Given the description of an element on the screen output the (x, y) to click on. 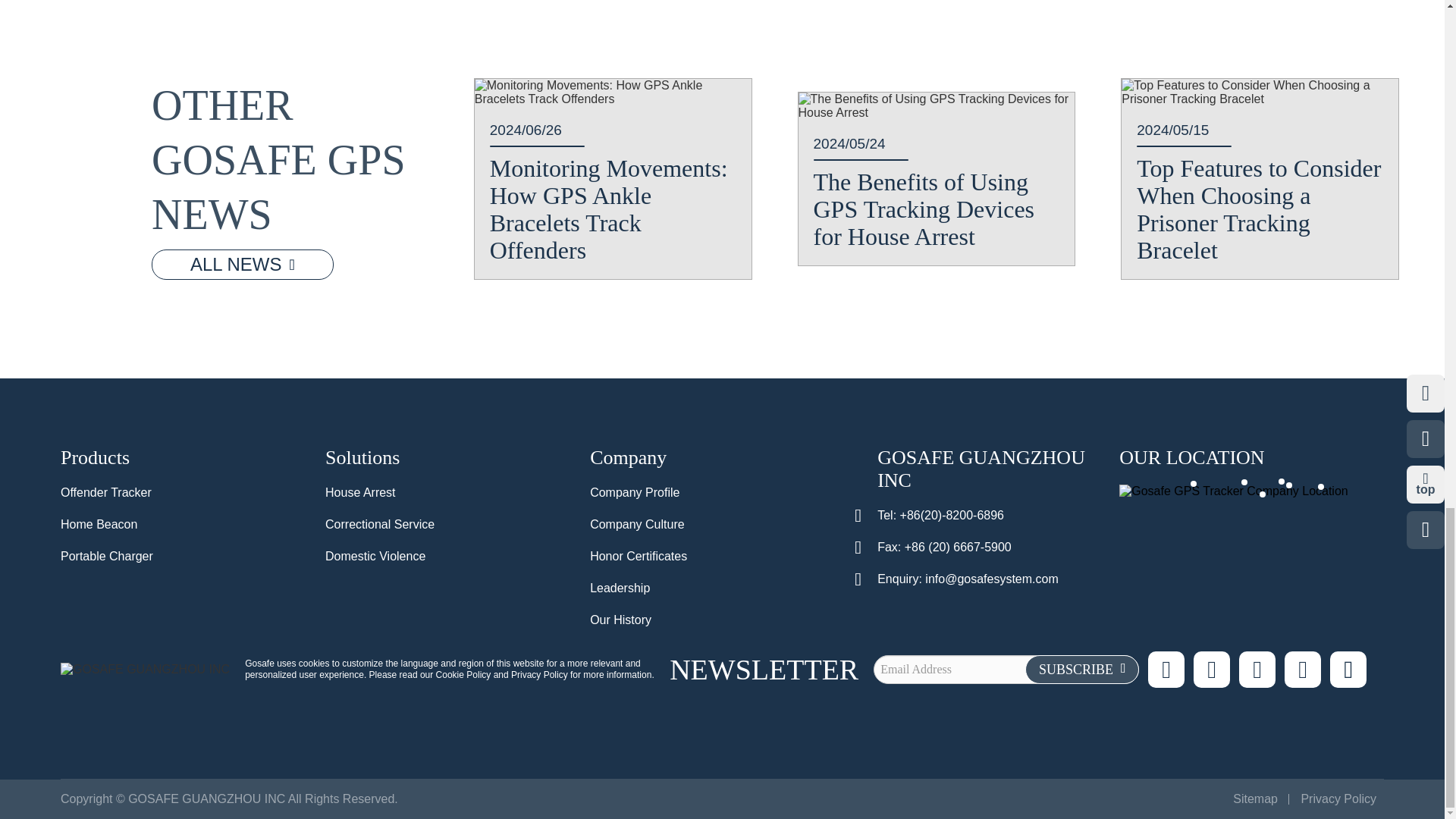
The Benefits of Using GPS Tracking Devices for House Arrest (935, 105)
